Given the description of an element on the screen output the (x, y) to click on. 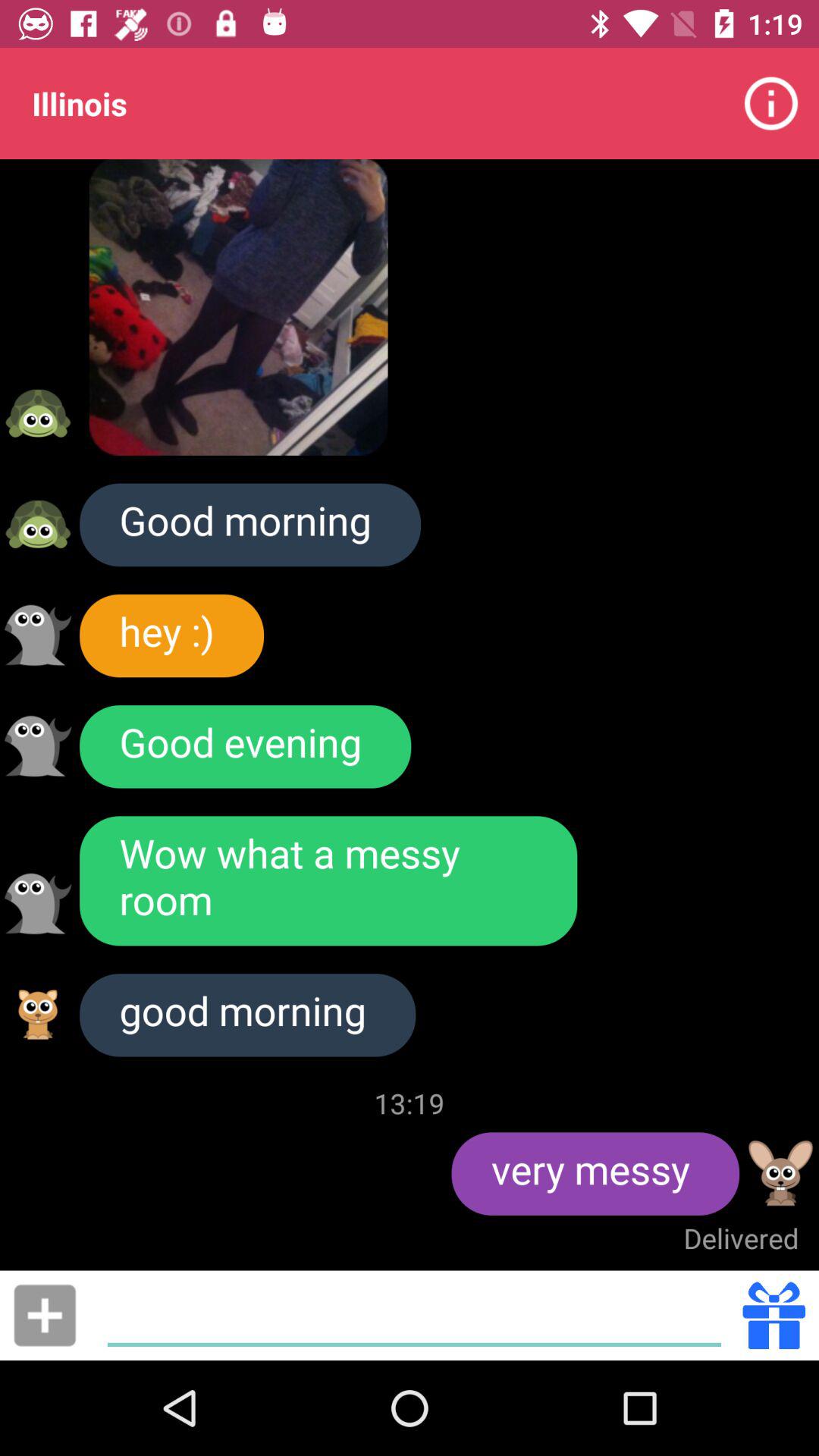
turn on the icon below delivered (414, 1315)
